Given the description of an element on the screen output the (x, y) to click on. 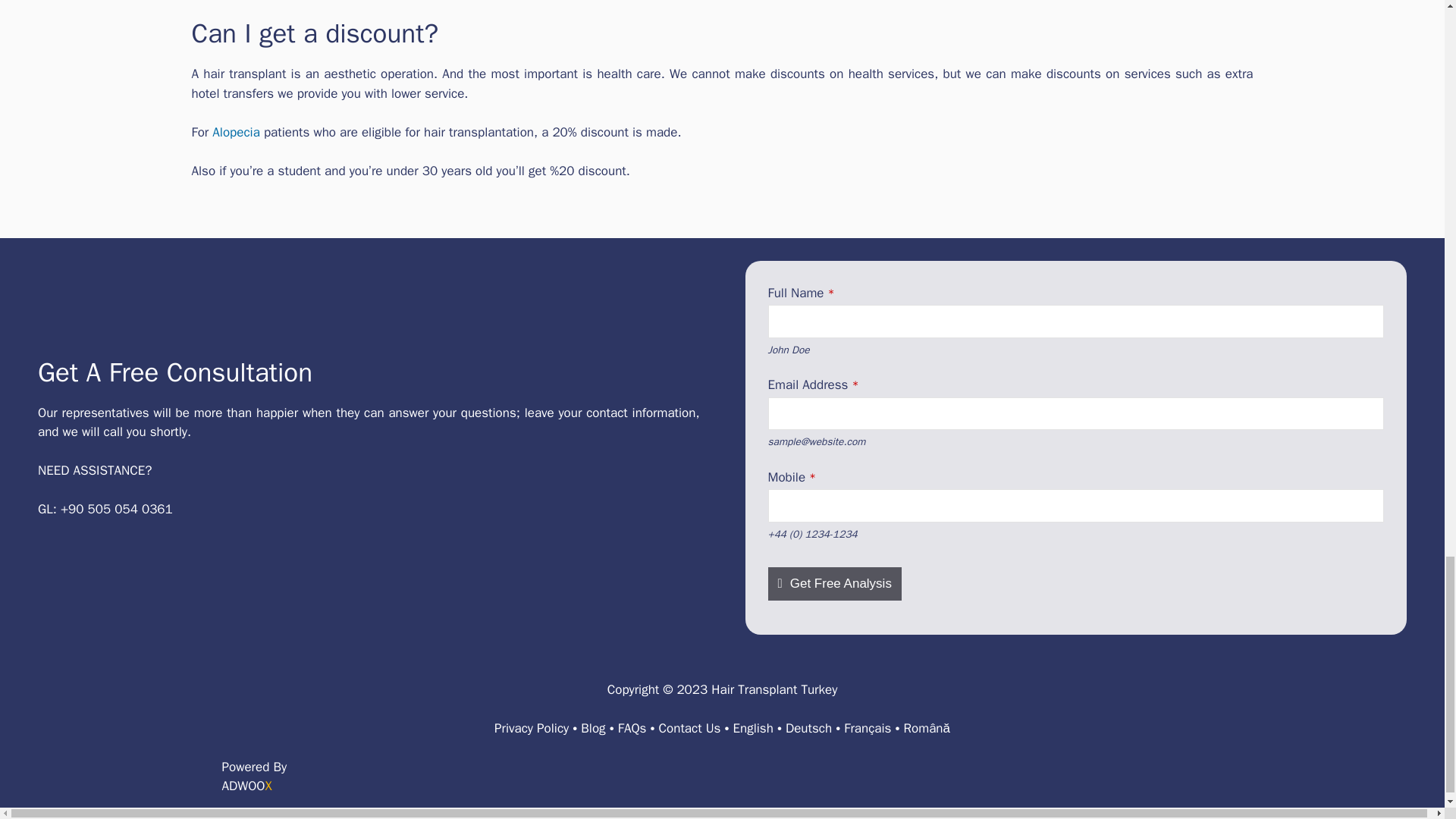
Alopecia (235, 132)
Get Free Analysis (834, 583)
ADWOOX (245, 785)
